Given the description of an element on the screen output the (x, y) to click on. 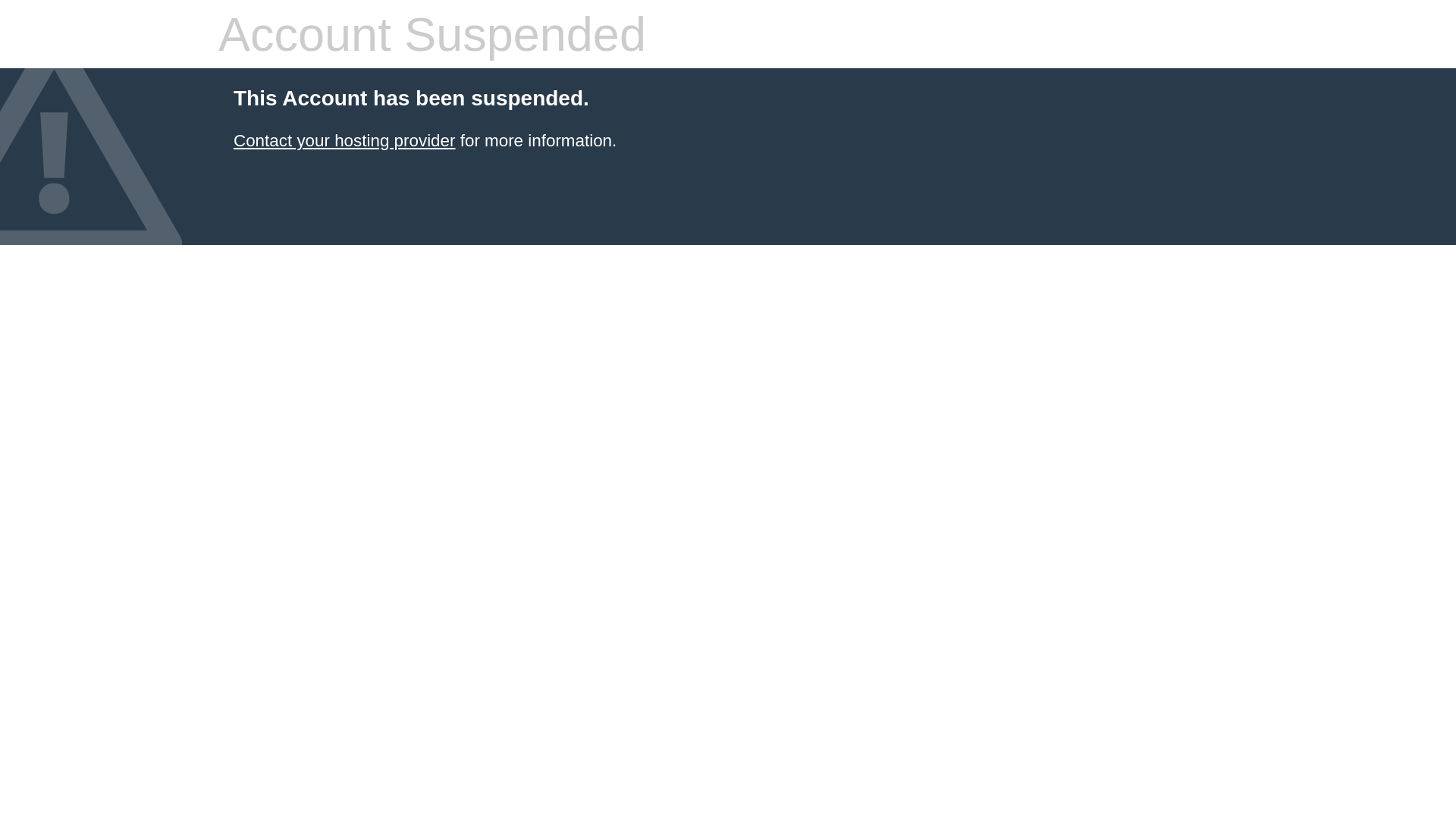
Contact your hosting provider Element type: text (344, 140)
